Given the description of an element on the screen output the (x, y) to click on. 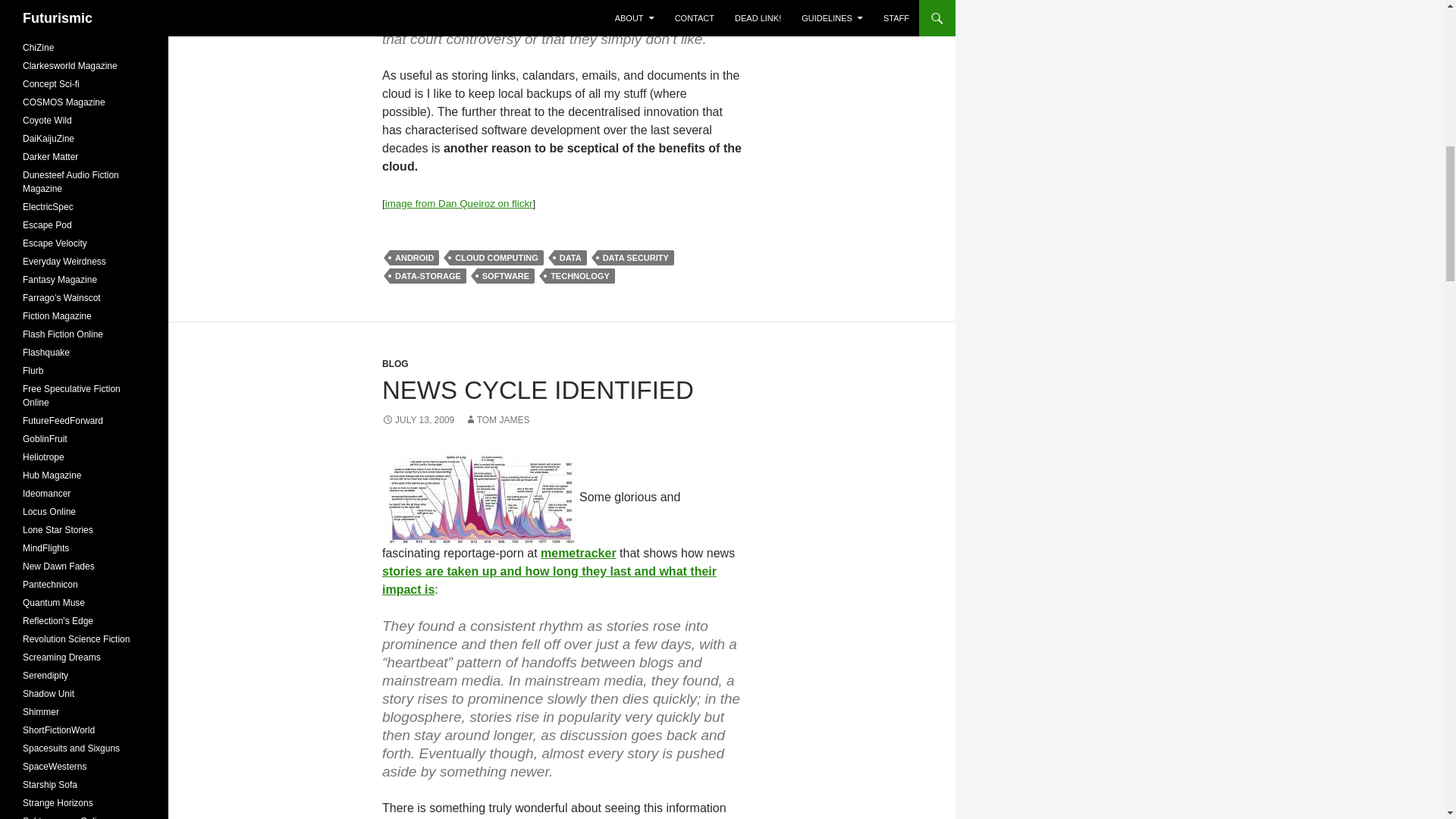
DATA-STORAGE (427, 275)
TECHNOLOGY (579, 275)
image from Dan Queiroz on flickr (458, 203)
TOM JAMES (496, 419)
BLOG (395, 363)
lipstickonap (480, 497)
NEWS CYCLE IDENTIFIED (537, 389)
SOFTWARE (505, 275)
DATA (570, 257)
